Given the description of an element on the screen output the (x, y) to click on. 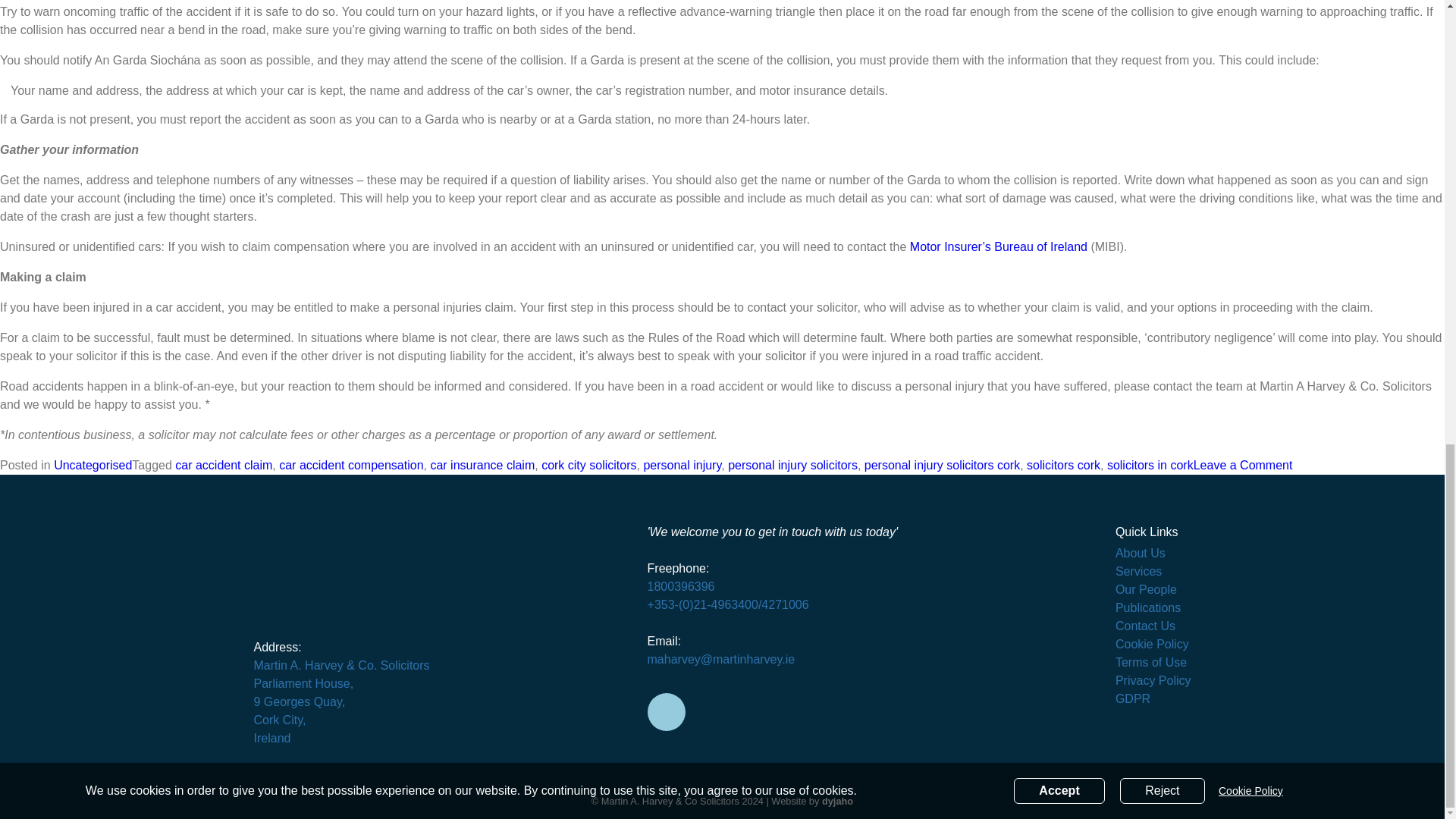
Services (1138, 571)
4271006 (784, 604)
cork city solicitors (588, 464)
Find us on Facebook (666, 711)
Binatedigital (837, 801)
solicitors in cork (1149, 464)
car accident compensation (351, 464)
Publications (1147, 607)
Terms of Use (1150, 662)
About Us (1140, 553)
personal injury solicitors cork (1242, 464)
Our People (942, 464)
1800396396 (1145, 589)
car accident claim (680, 585)
